Given the description of an element on the screen output the (x, y) to click on. 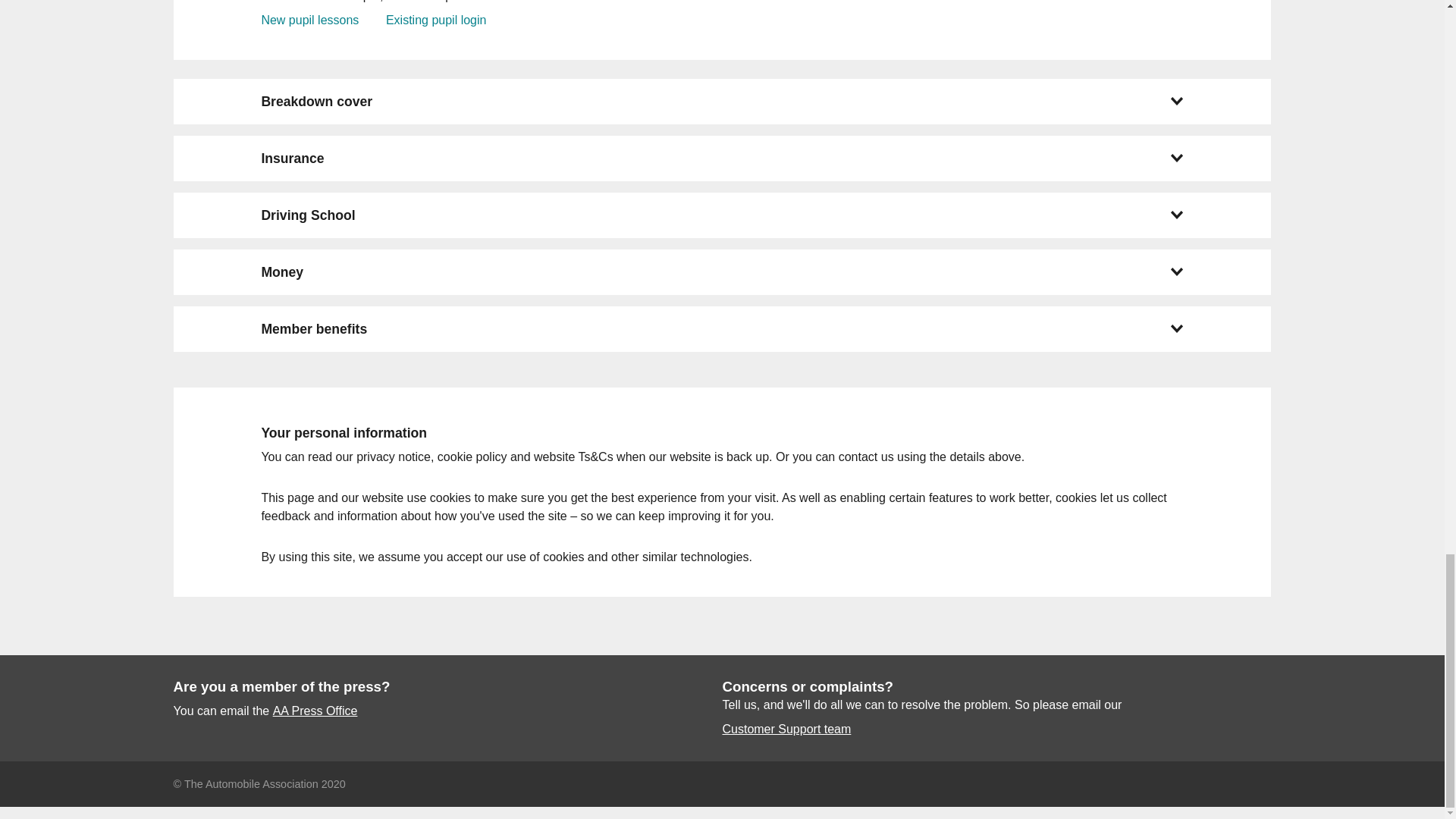
AA Press Office (315, 710)
Customer Support team (786, 729)
New pupil lessons (309, 20)
Existing pupil login (435, 20)
